Given the description of an element on the screen output the (x, y) to click on. 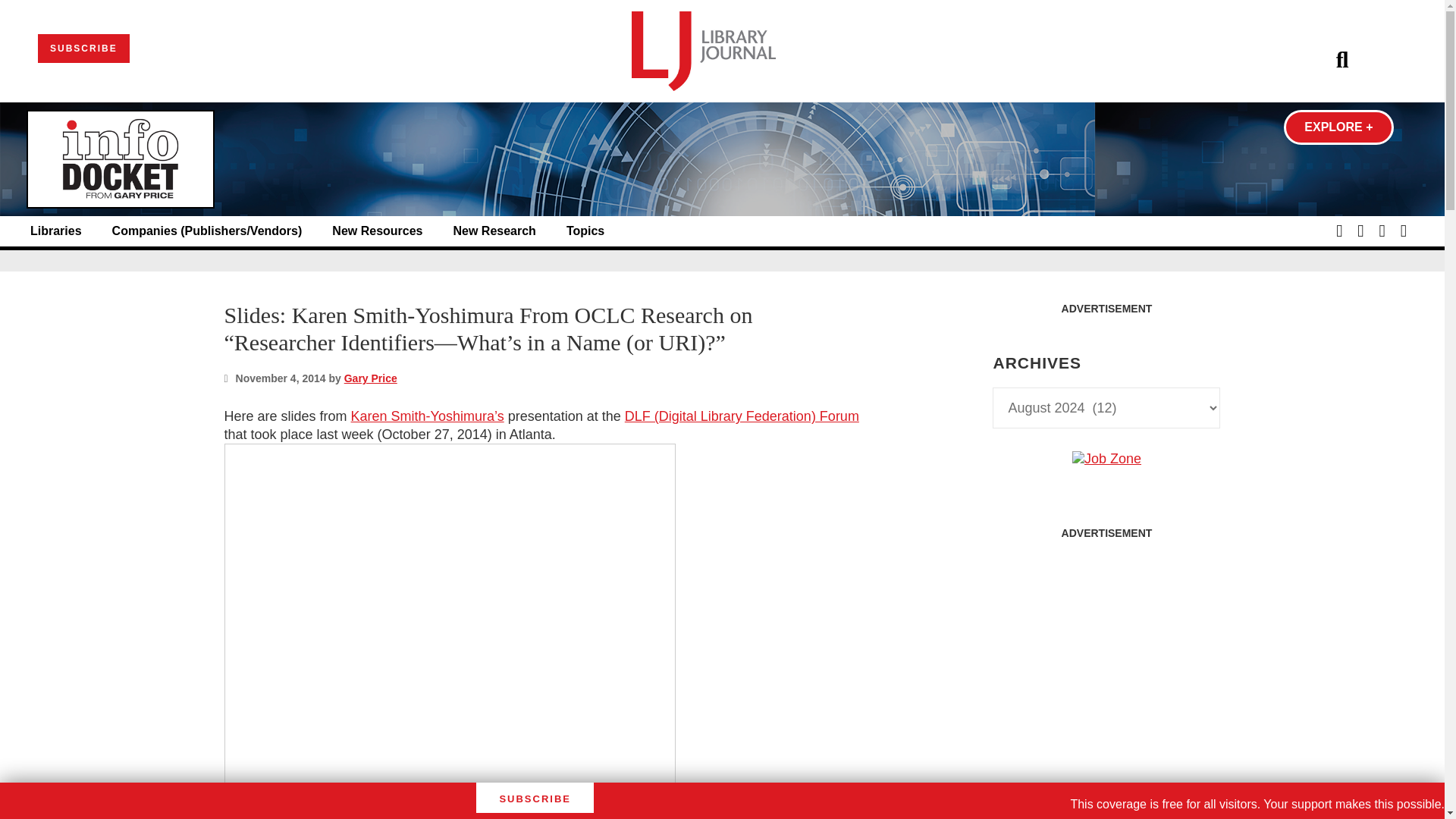
Libraries (55, 231)
New Resources (376, 231)
SUBSCRIBE (83, 48)
